Given the description of an element on the screen output the (x, y) to click on. 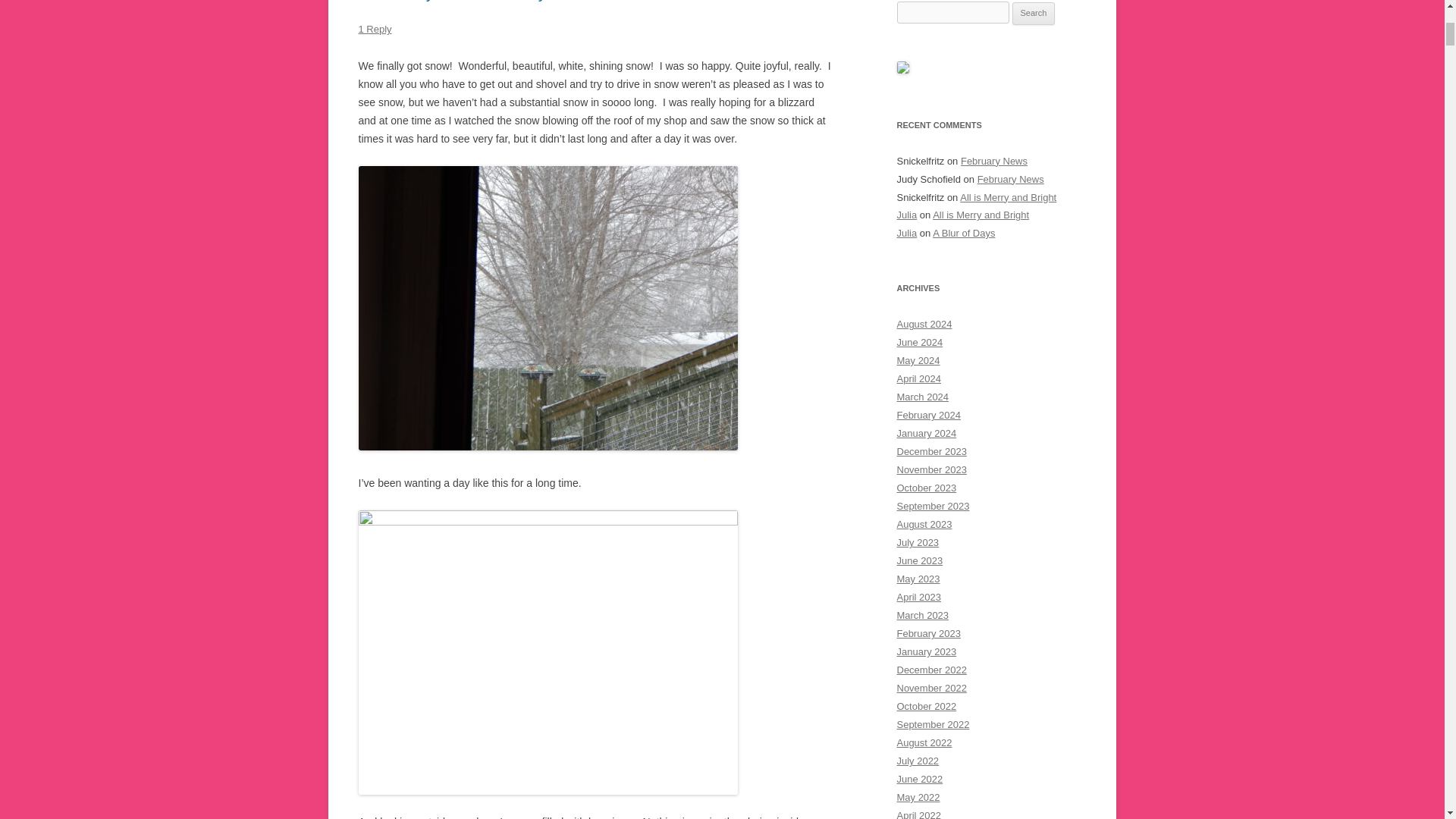
1 Reply (374, 29)
Search (1033, 13)
